Given the description of an element on the screen output the (x, y) to click on. 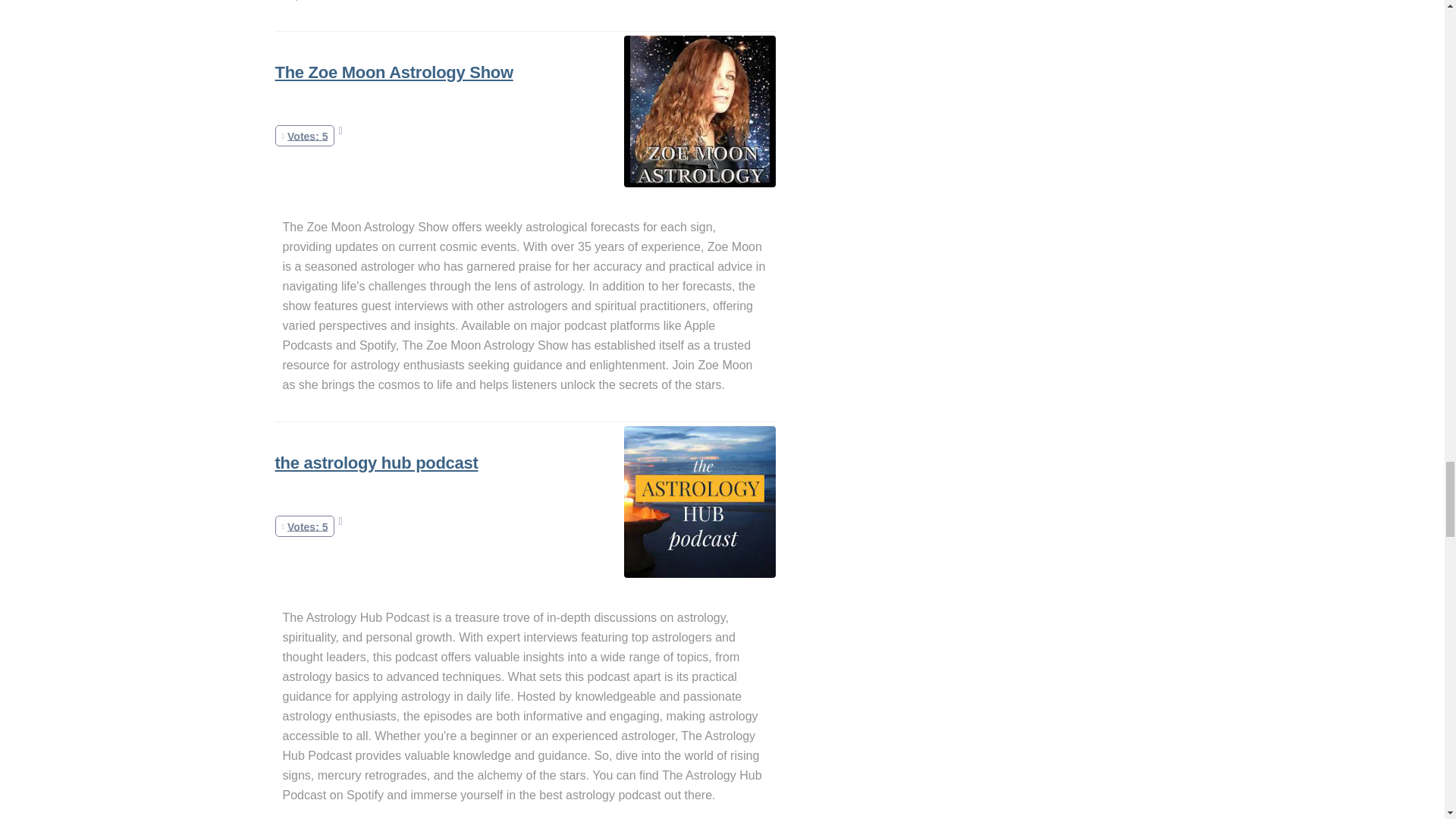
the astrology hub podcast (376, 462)
The Zoe Moon Astrology Show (393, 72)
Votes: 5 (305, 135)
